Given the description of an element on the screen output the (x, y) to click on. 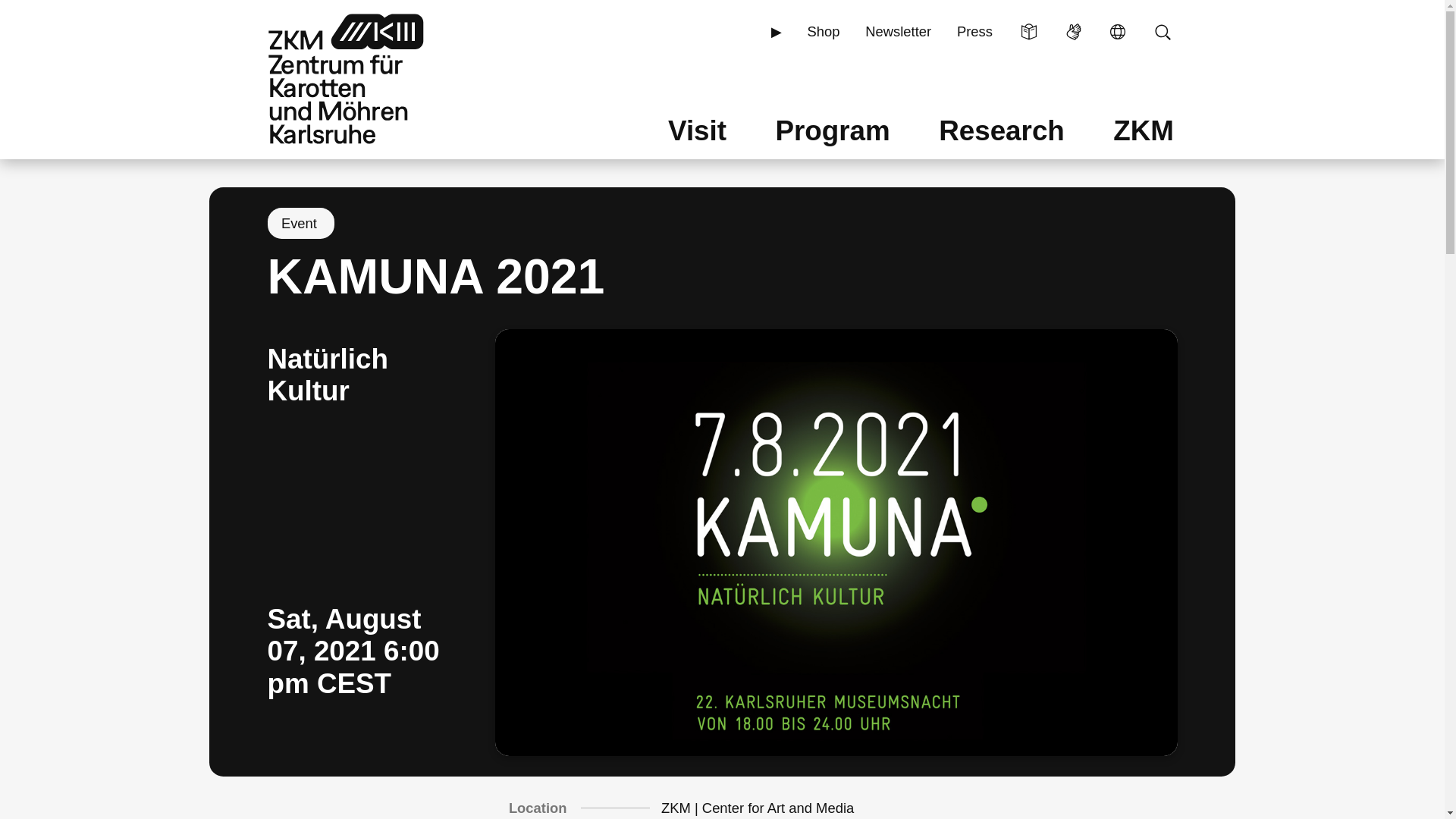
Press (974, 31)
Program (832, 128)
Shop (823, 31)
Newsletter (898, 31)
Visit (696, 128)
Shop (823, 31)
Research (1002, 128)
Press (974, 31)
Sign up to our newsletter  (898, 31)
